Given the description of an element on the screen output the (x, y) to click on. 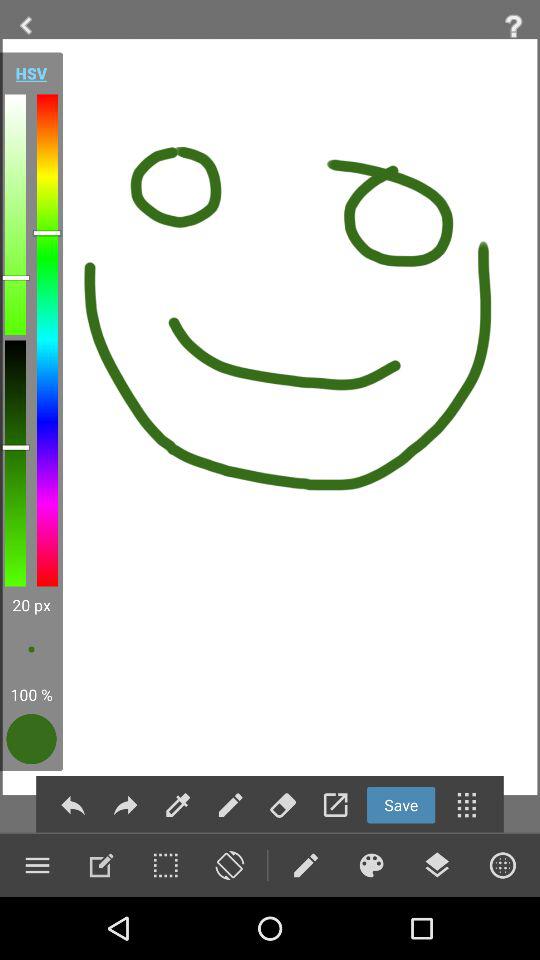
help feeback (513, 26)
